Given the description of an element on the screen output the (x, y) to click on. 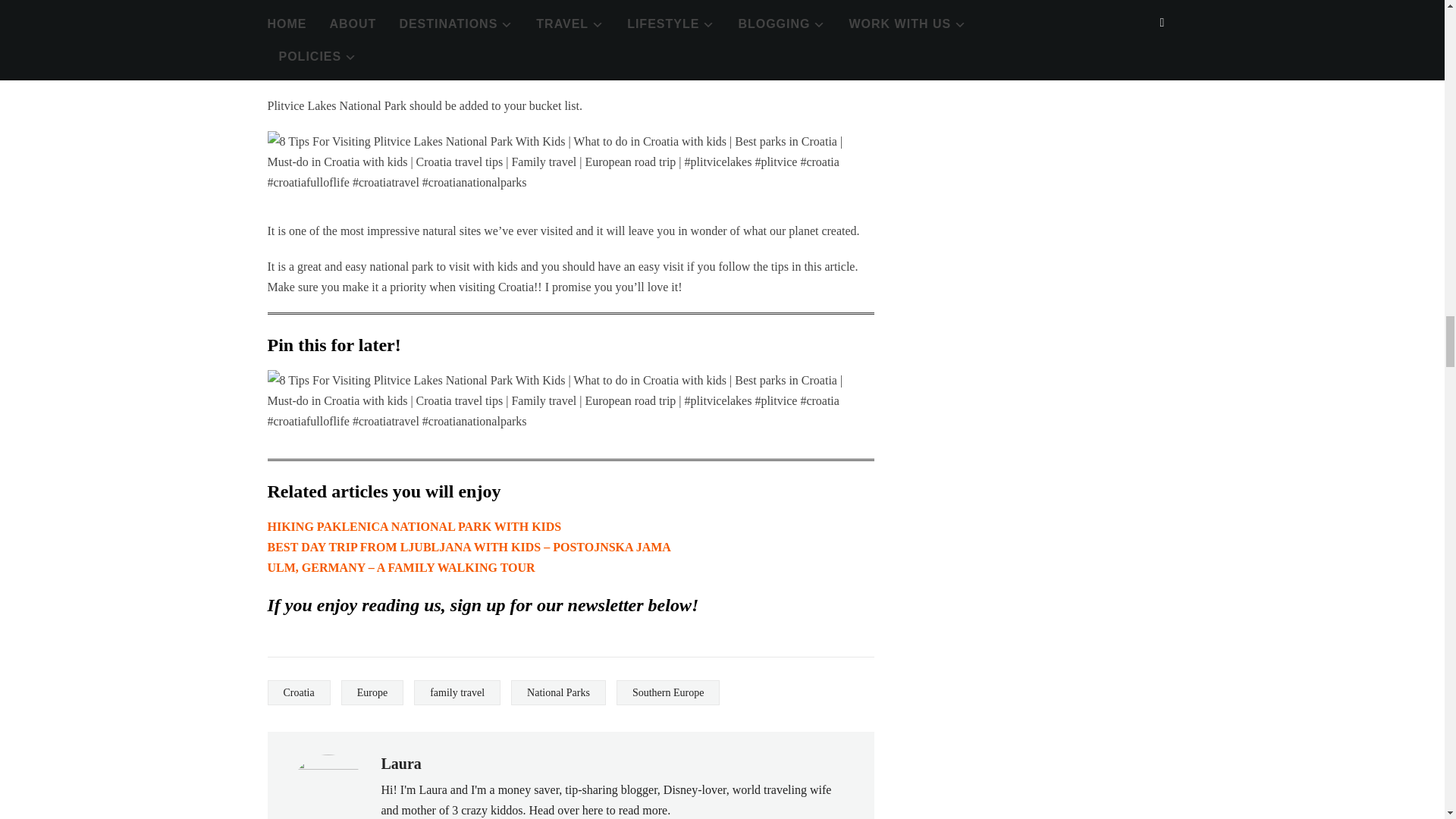
Posts by Laura (400, 763)
